Given the description of an element on the screen output the (x, y) to click on. 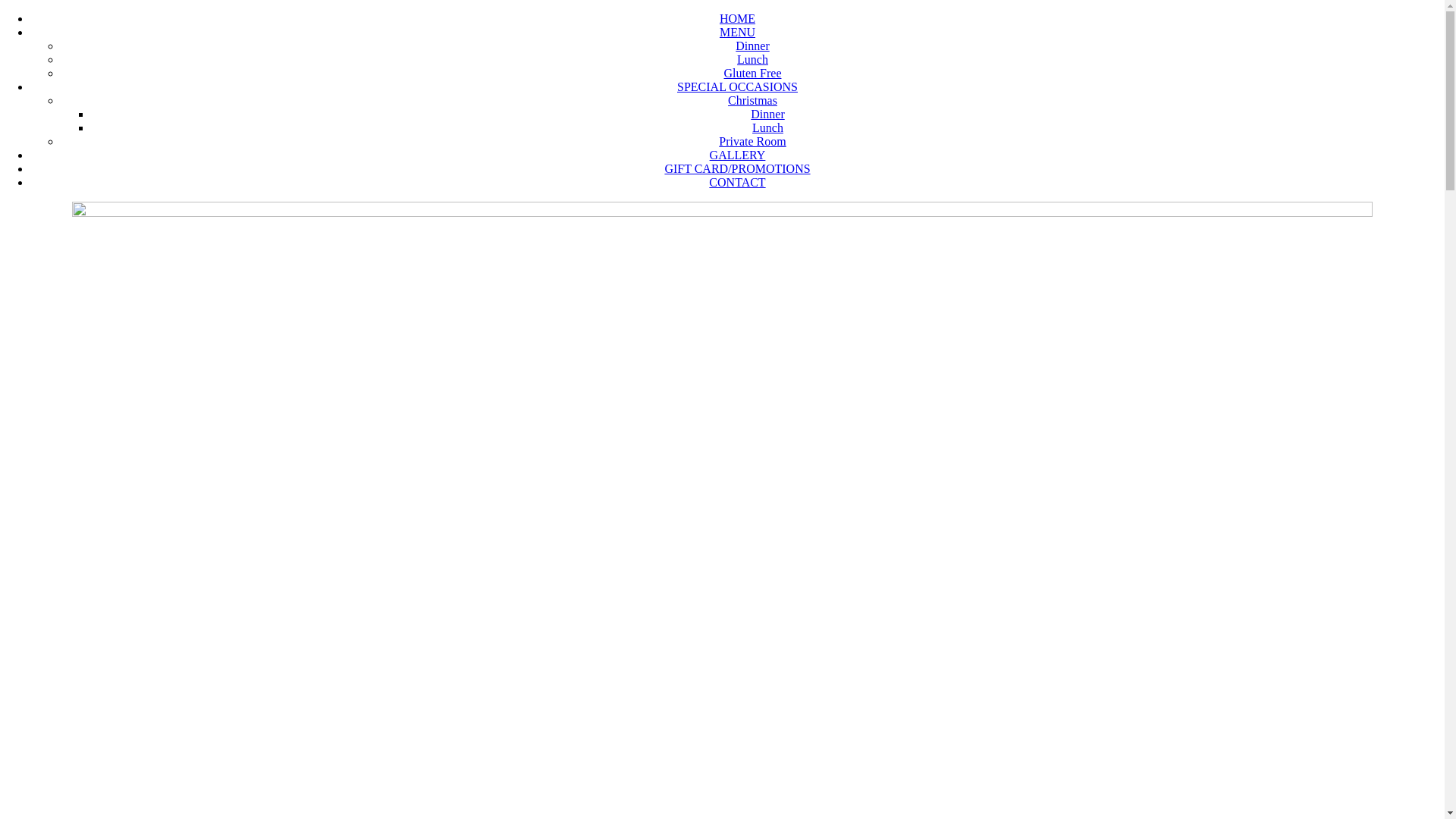
Private Room Element type: text (751, 140)
HOME Element type: text (737, 18)
Lunch Element type: text (767, 127)
Lunch Element type: text (752, 59)
Dinner Element type: text (767, 113)
Gluten Free Element type: text (752, 72)
MENU Element type: text (737, 31)
CONTACT Element type: text (737, 181)
Christmas Element type: text (752, 100)
Dinner Element type: text (751, 45)
GIFT CARD/PROMOTIONS Element type: text (736, 168)
GALLERY Element type: text (737, 154)
SPECIAL OCCASIONS Element type: text (737, 86)
